Given the description of an element on the screen output the (x, y) to click on. 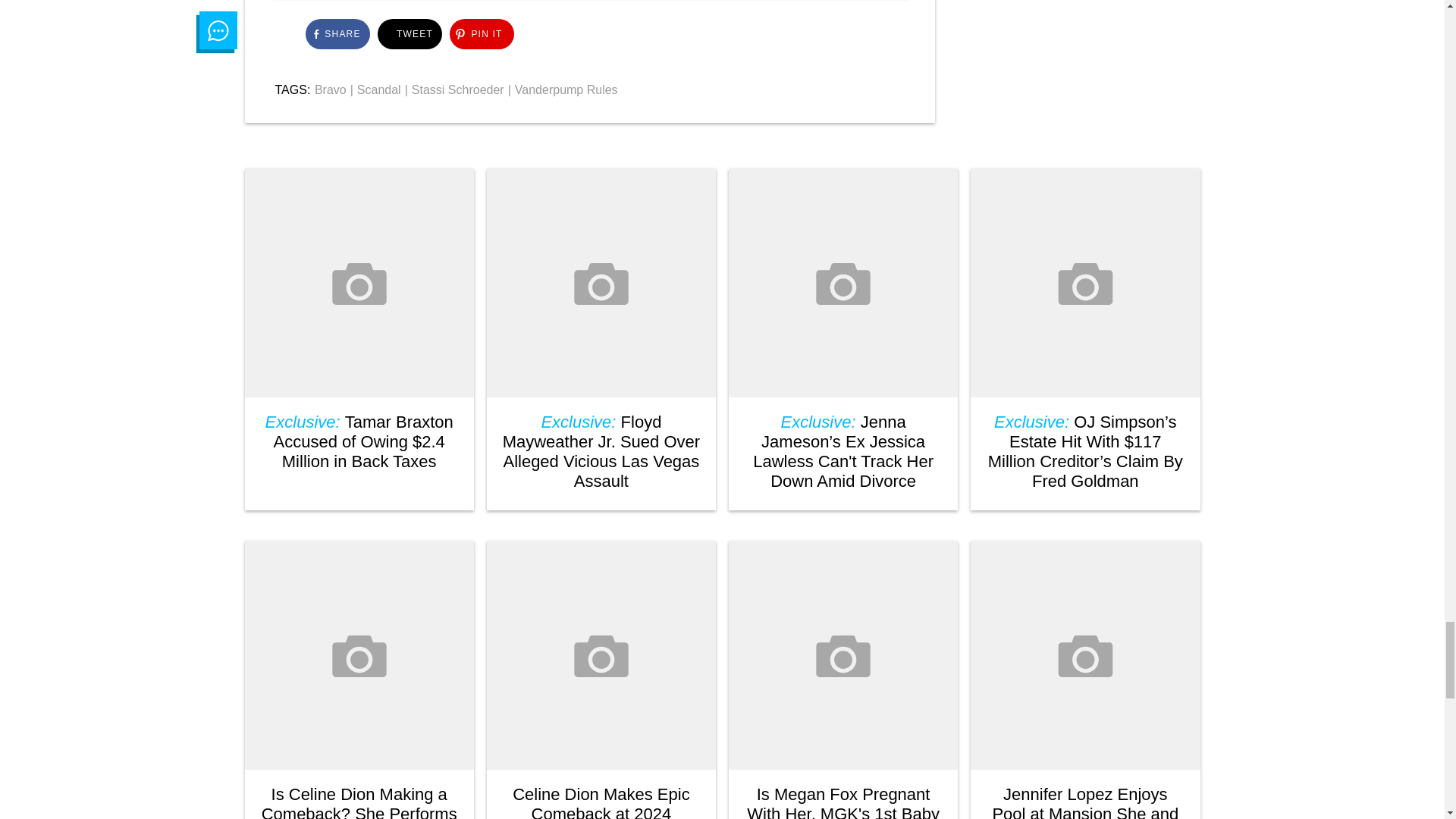
Click to share on Twitter (409, 33)
Click to share on Facebook (336, 33)
Click to share on Pinterest (480, 33)
